Given the description of an element on the screen output the (x, y) to click on. 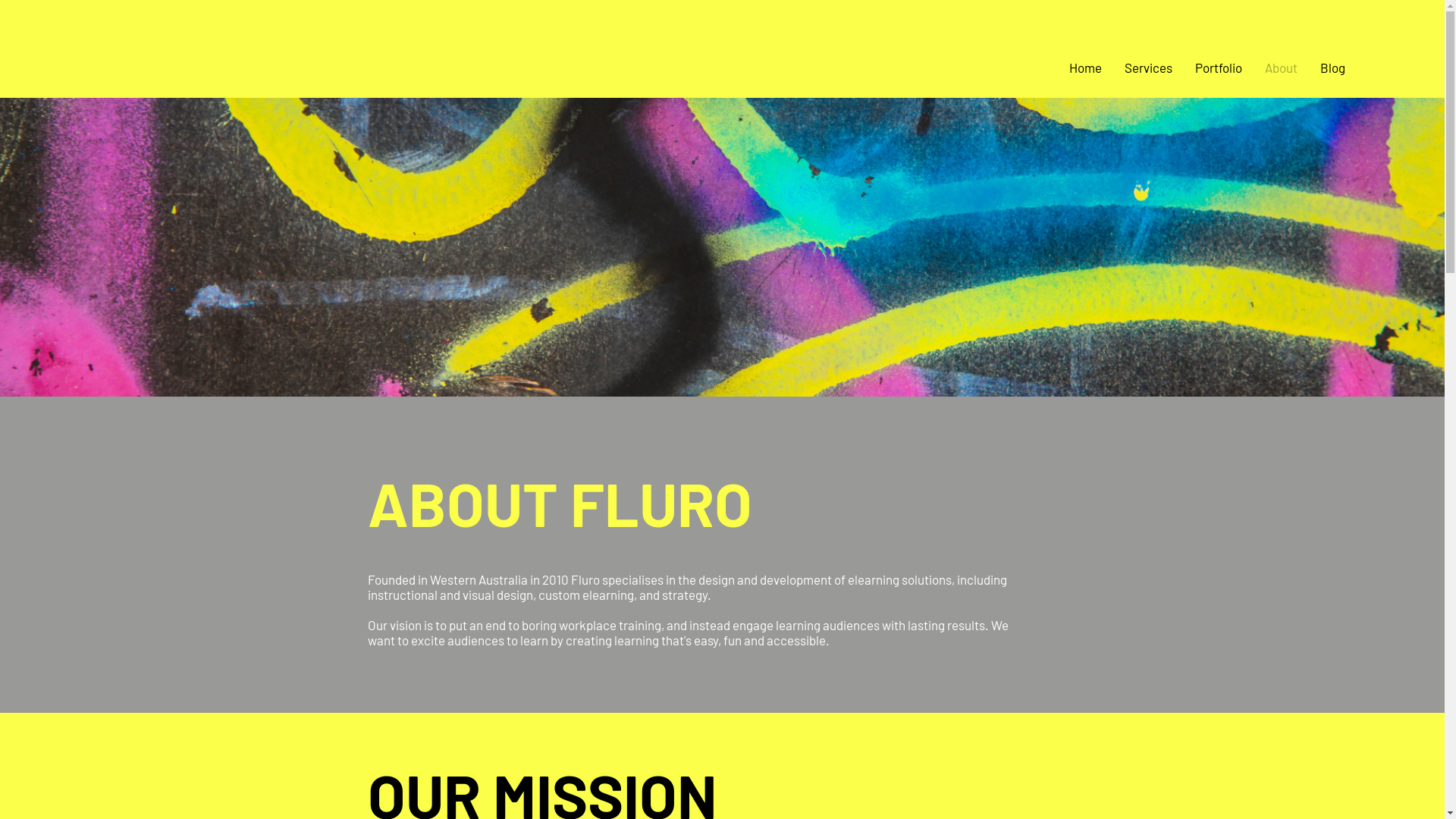
Blog Element type: text (1332, 67)
About Element type: text (1280, 67)
Portfolio Element type: text (1218, 67)
Services Element type: text (1148, 67)
Home Element type: text (1085, 67)
